Given the description of an element on the screen output the (x, y) to click on. 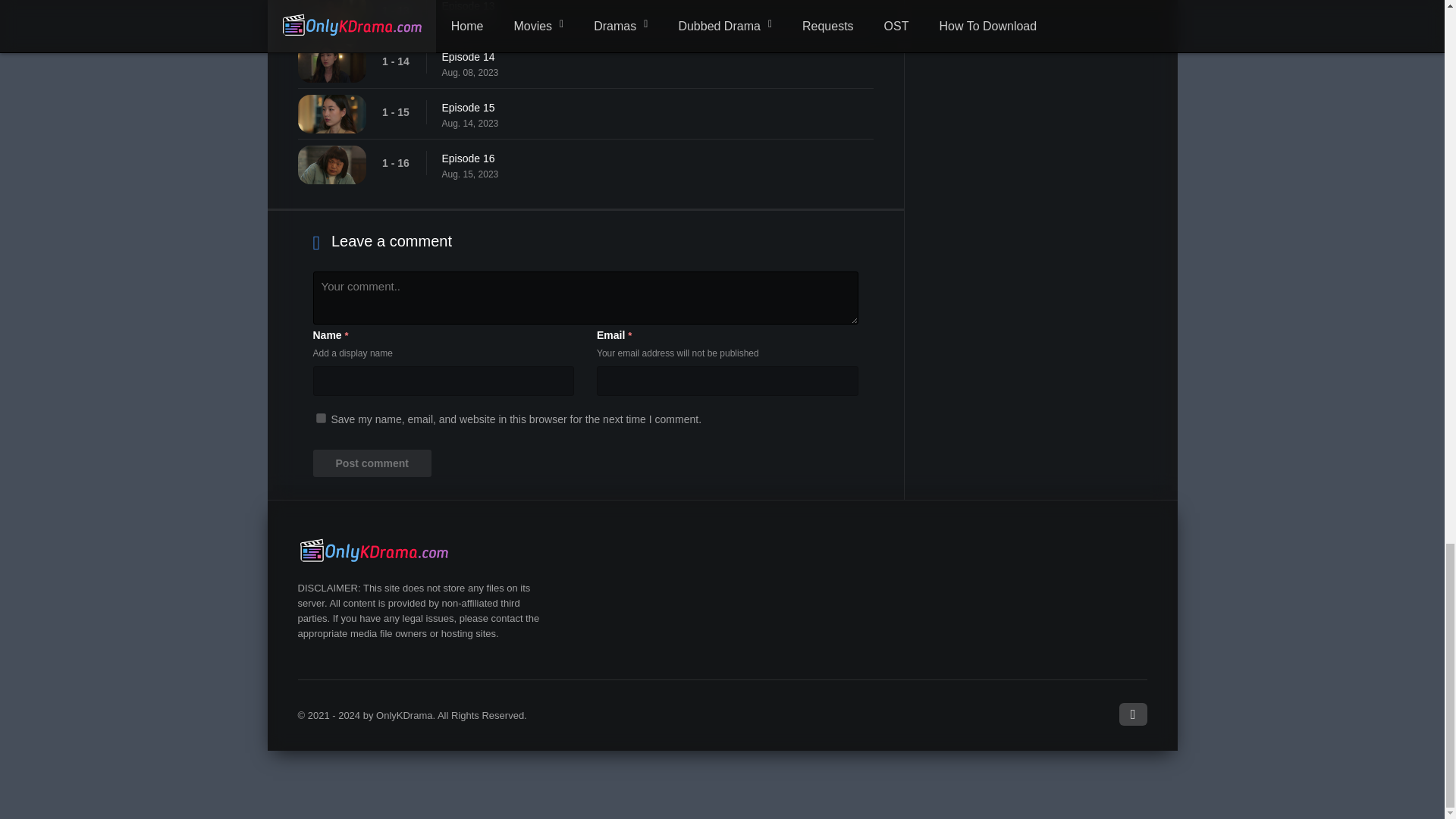
Post comment (371, 462)
yes (319, 418)
